Given the description of an element on the screen output the (x, y) to click on. 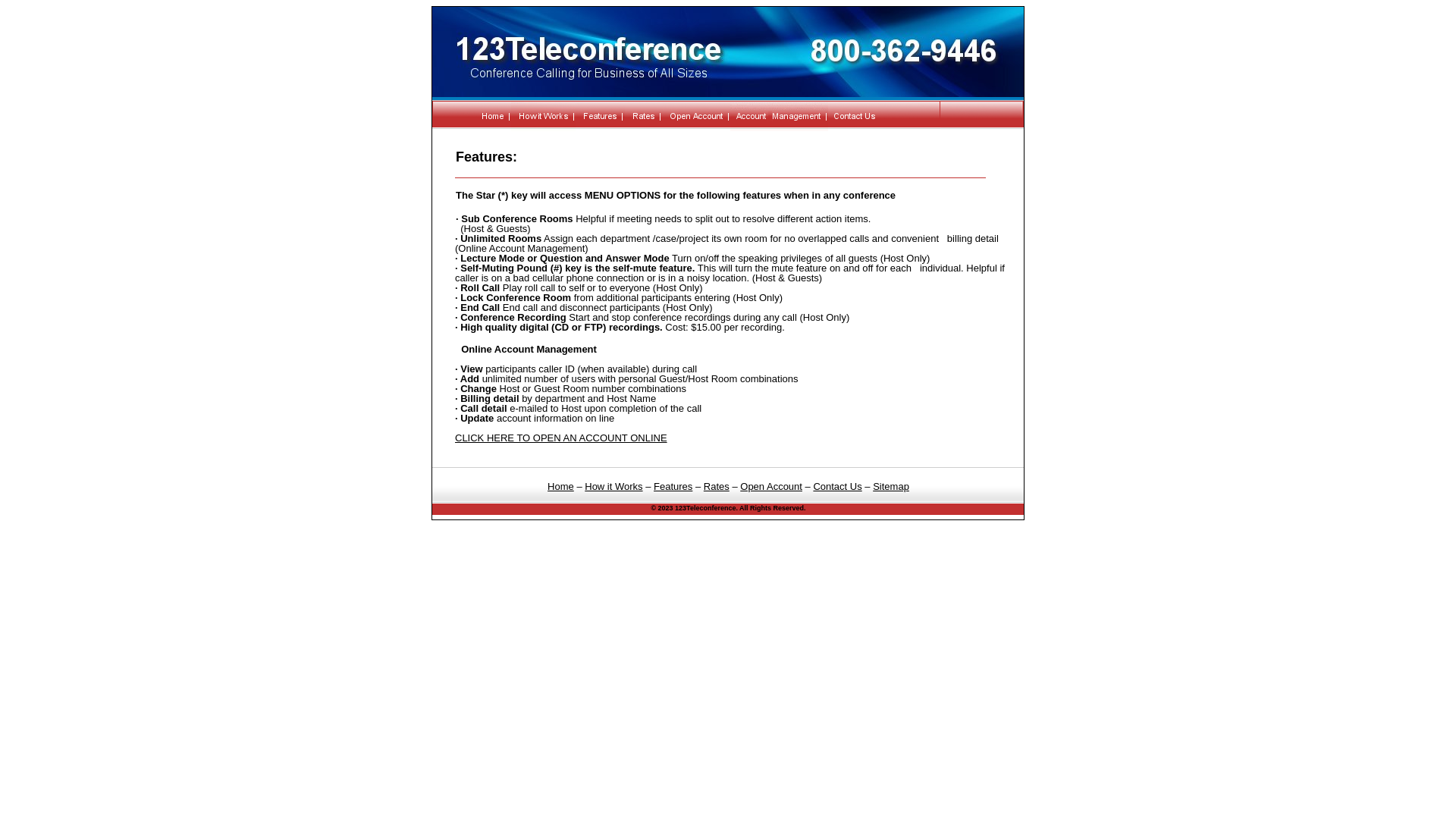
How it Works Element type: text (613, 486)
Sitemap Element type: text (890, 486)
Contact Us Element type: text (836, 486)
Rates Element type: text (716, 486)
Home Element type: text (560, 486)
CLICK HERE TO OPEN AN ACCOUNT ONLINE Element type: text (561, 437)
Open Account Element type: text (771, 486)
Features Element type: text (672, 486)
